Given the description of an element on the screen output the (x, y) to click on. 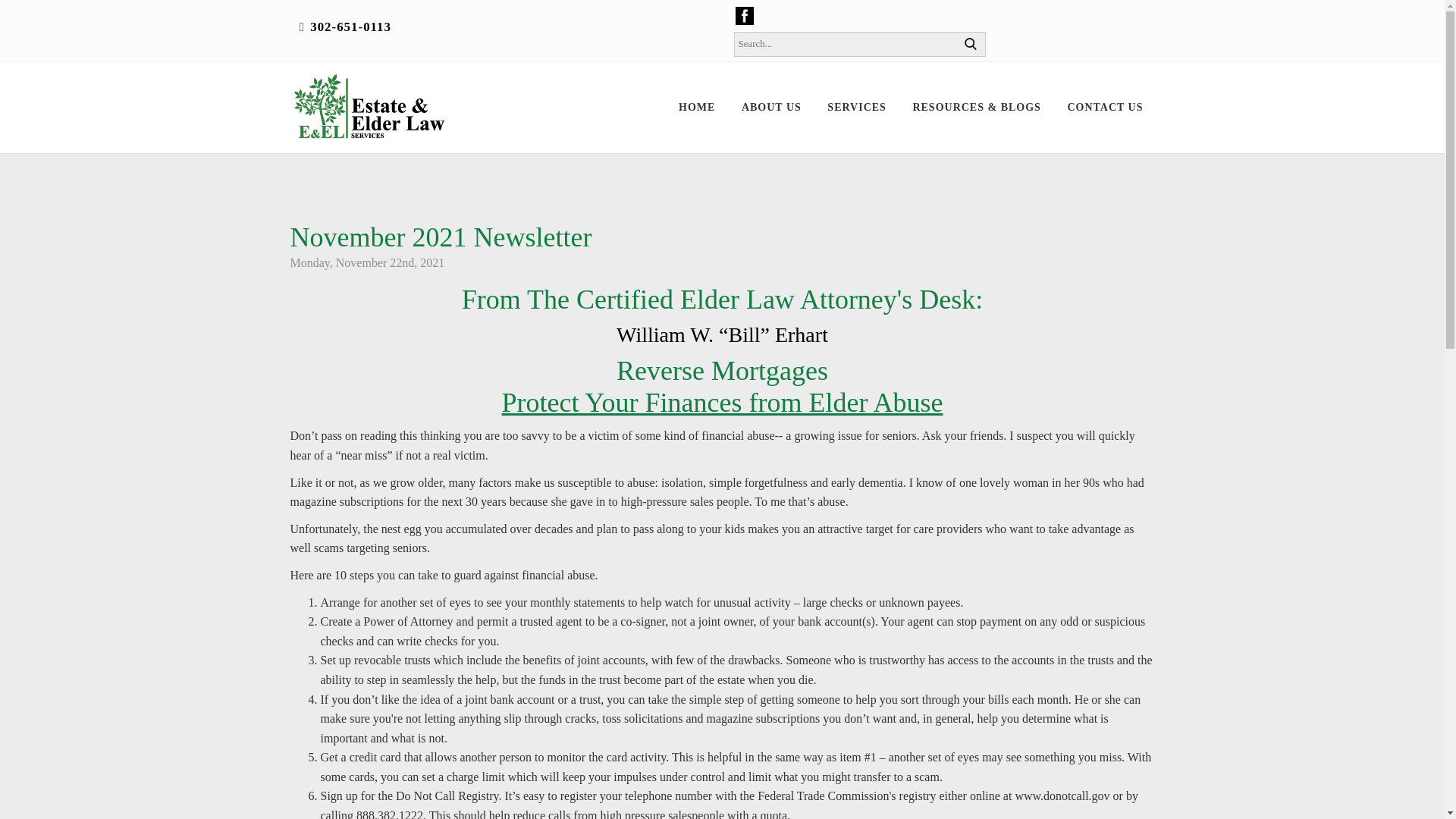
HOME (696, 107)
Search (970, 43)
Facebook (744, 14)
CONTACT US (1104, 107)
SERVICES (856, 107)
302-651-0113 (350, 26)
Search (970, 43)
ABOUT US (771, 107)
